Given the description of an element on the screen output the (x, y) to click on. 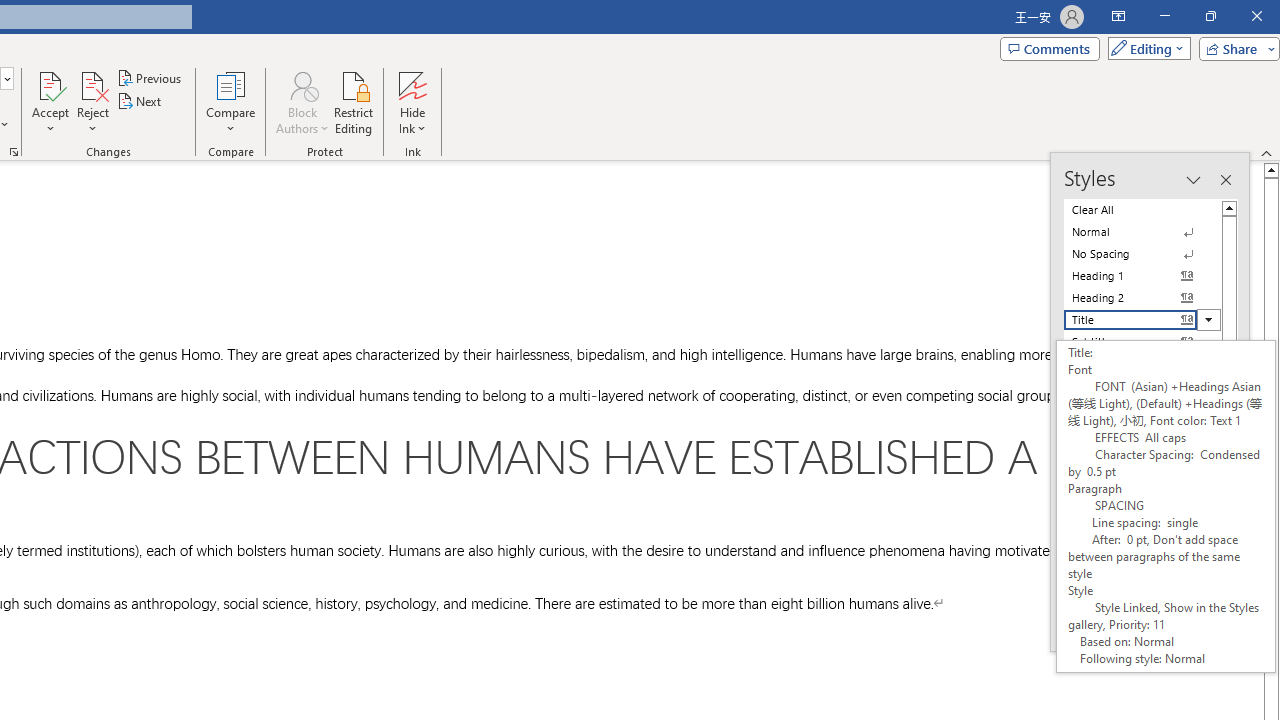
Change Tracking Options... (13, 151)
Block Authors (302, 102)
Hide Ink (412, 84)
Restrict Editing (353, 102)
List Paragraph (1142, 561)
Block Authors (302, 84)
Options... (1202, 623)
Disable Linked Styles (1129, 599)
Previous (150, 78)
